Given the description of an element on the screen output the (x, y) to click on. 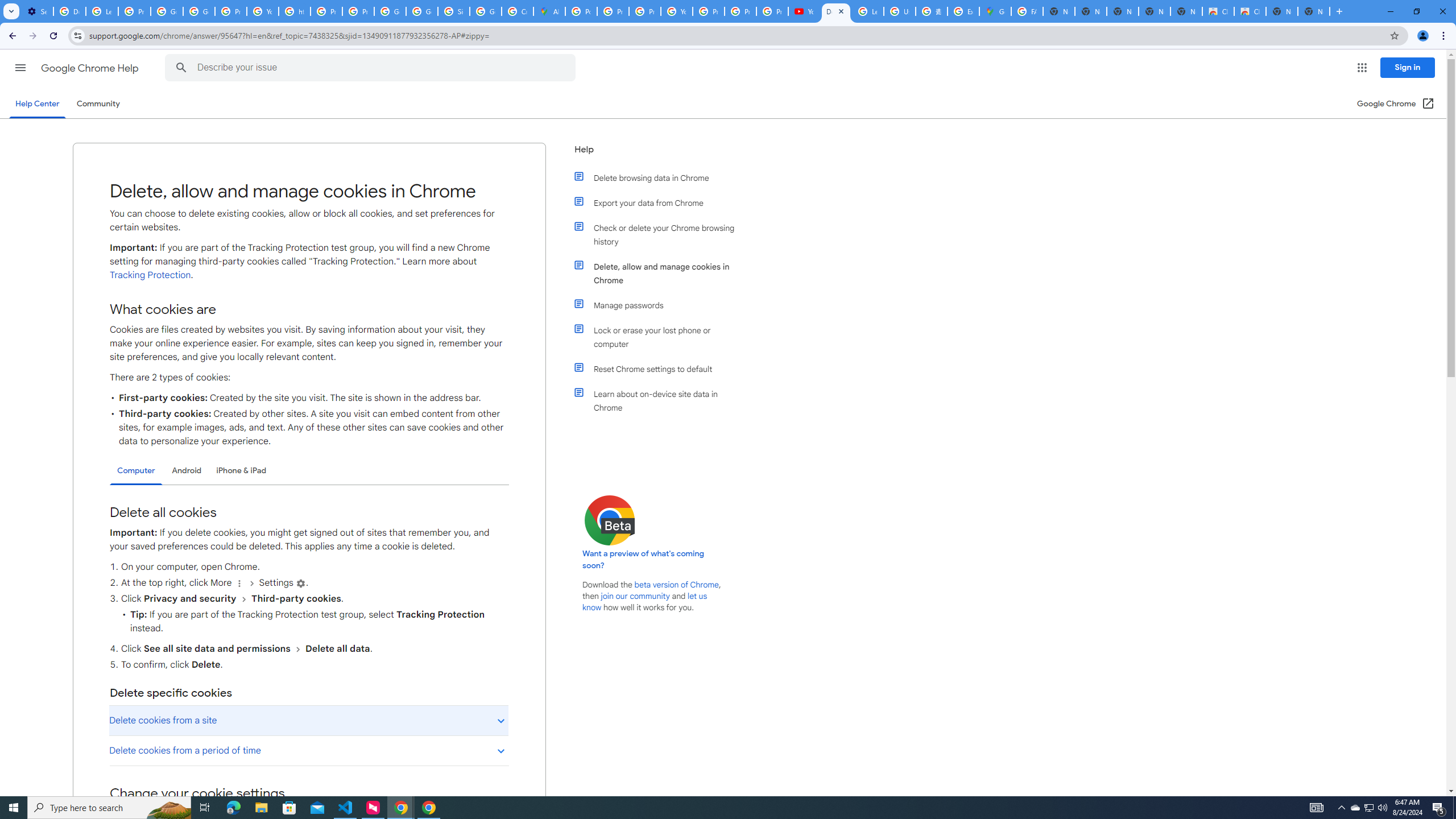
Policy Accountability and Transparency - Transparency Center (581, 11)
Tracking Protection (149, 274)
Export your data from Chrome (661, 202)
Sign in - Google Accounts (453, 11)
Privacy Help Center - Policies Help (644, 11)
New Tab (1313, 11)
Reset Chrome settings to default (661, 368)
YouTube (676, 11)
